Given the description of an element on the screen output the (x, y) to click on. 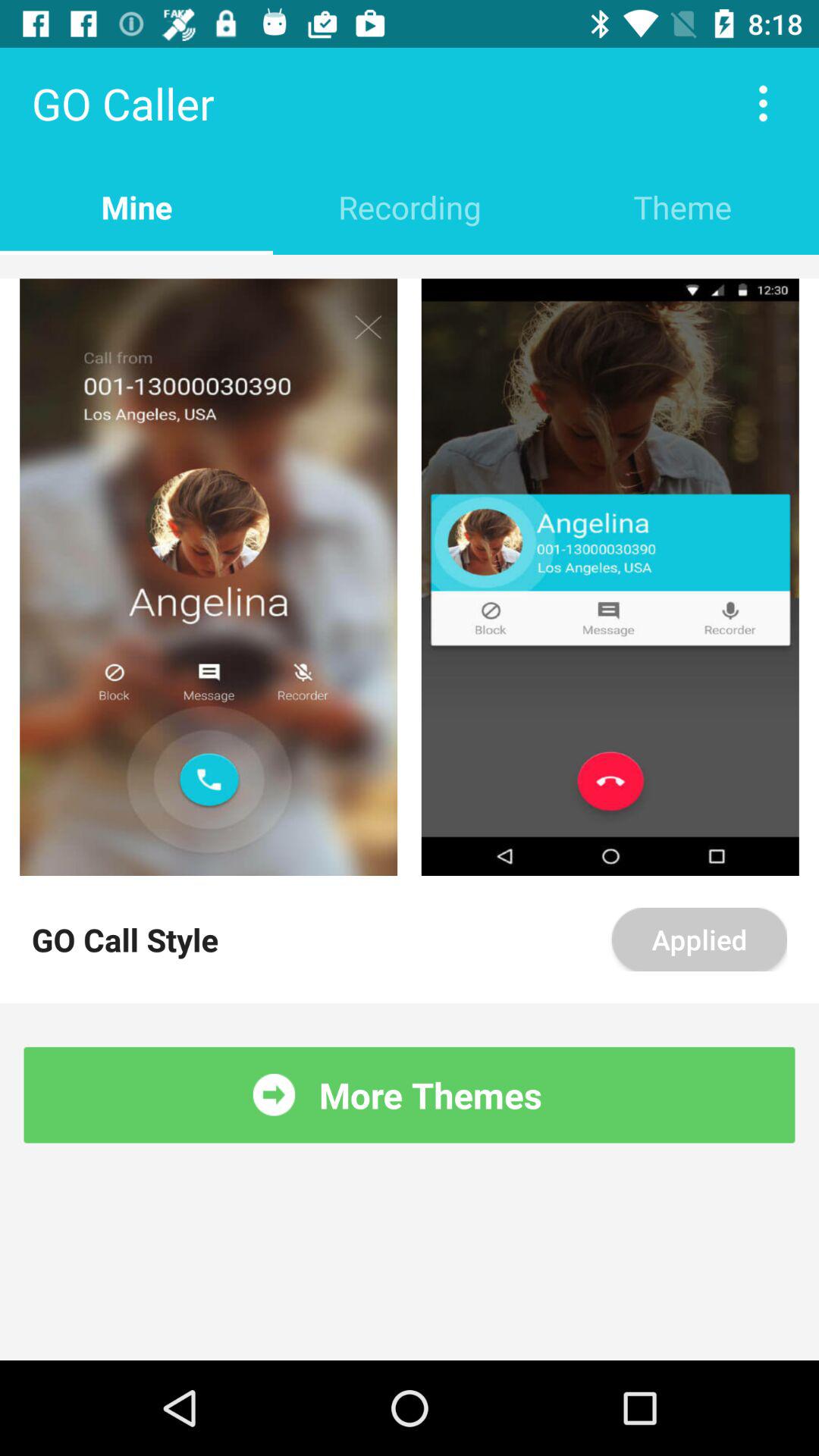
open the item to the left of the more themes (274, 1094)
